Given the description of an element on the screen output the (x, y) to click on. 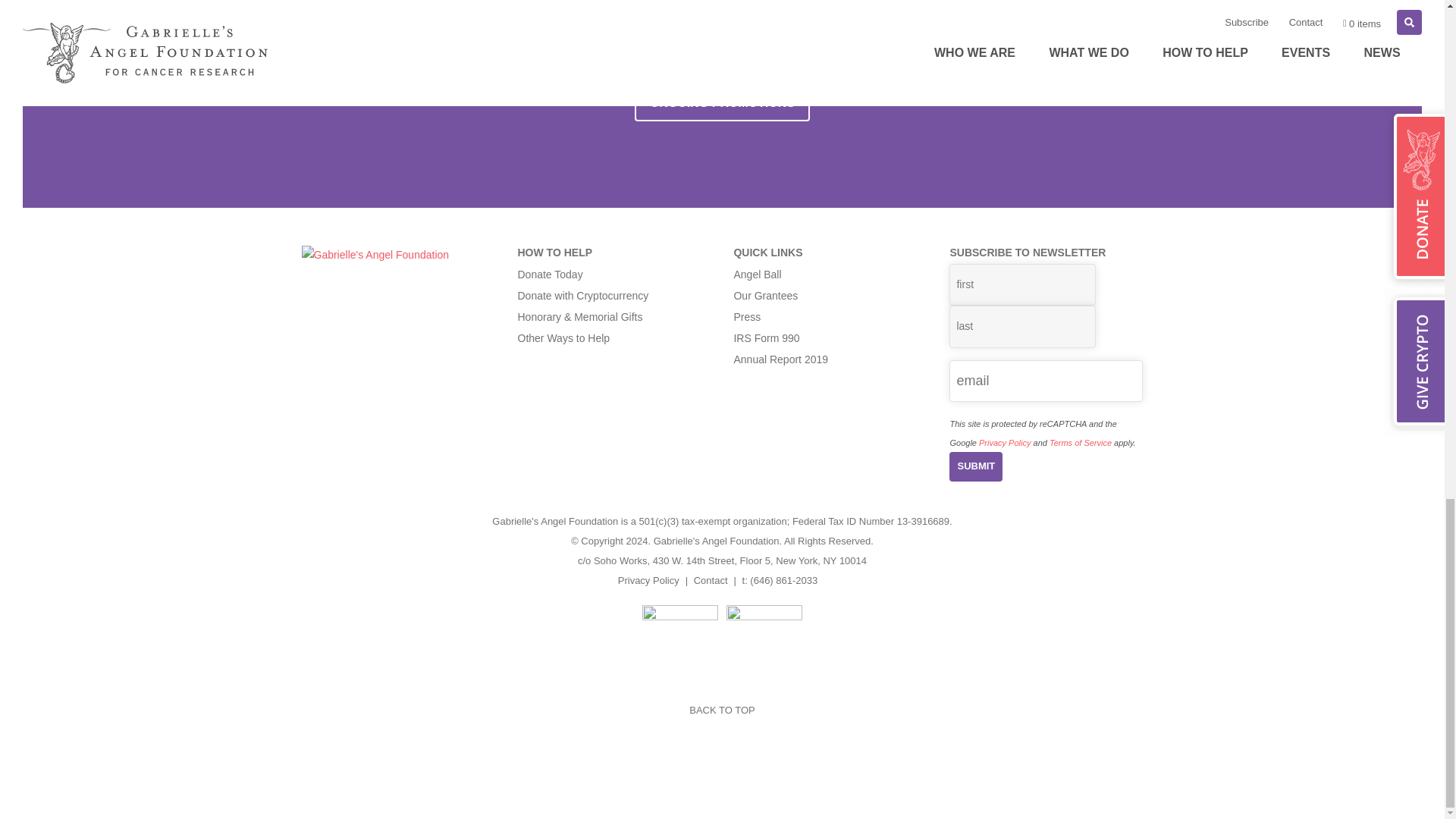
Gabrielle's Angel Foundation (375, 254)
Submit (976, 466)
